Given the description of an element on the screen output the (x, y) to click on. 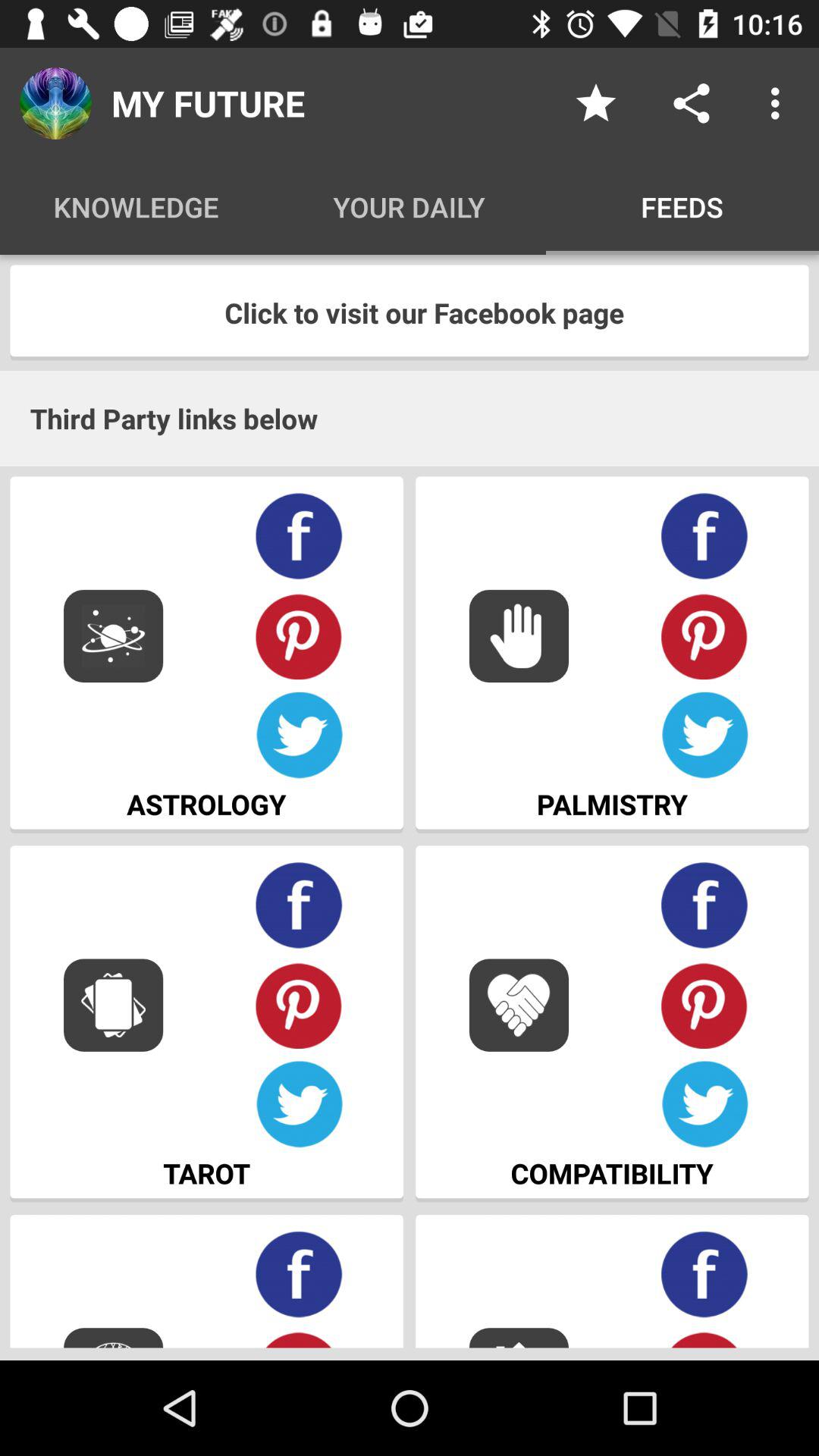
find on facebook (299, 1274)
